Given the description of an element on the screen output the (x, y) to click on. 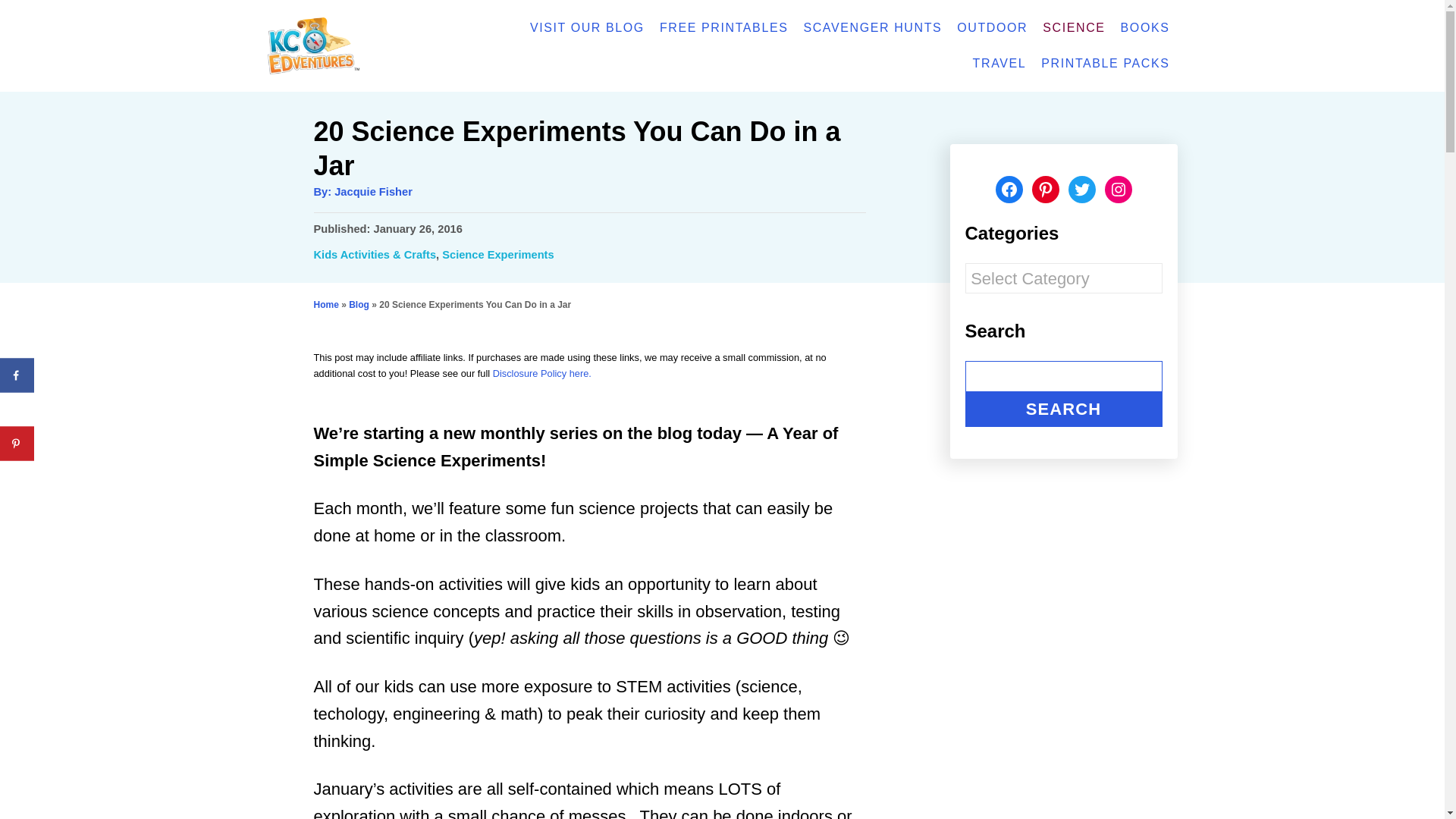
PRINTABLE PACKS (1104, 63)
BOOKS (1145, 28)
OUTDOOR (992, 28)
Blog (359, 304)
Jacquie Fisher (373, 191)
SCAVENGER HUNTS (871, 28)
KC Edventures (357, 45)
TRAVEL (999, 63)
Share on Facebook (16, 374)
Save to Pinterest (16, 442)
